Given the description of an element on the screen output the (x, y) to click on. 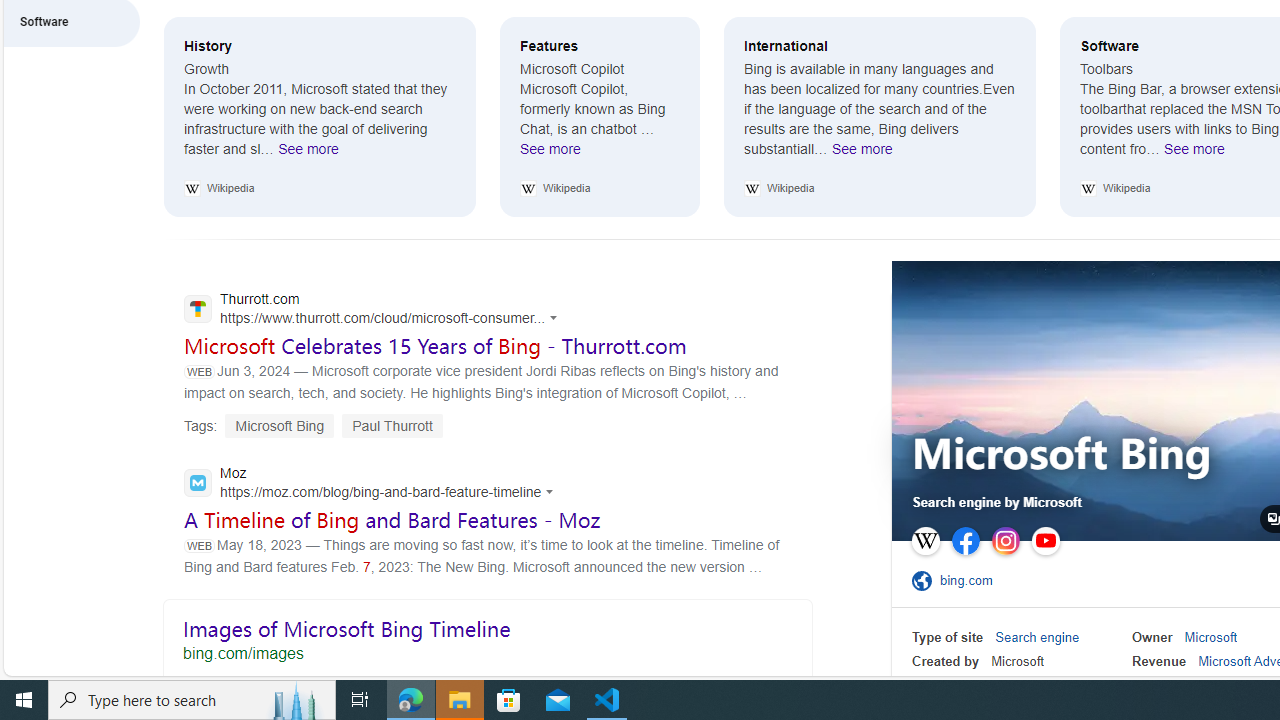
Microsoft Celebrates 15 Years of Bing - Thurrott.com (435, 345)
Class: sp-ofsite (921, 580)
Wikipedia (925, 541)
Created by (945, 660)
Tags: Microsoft Bing Paul Thurrott (313, 425)
Microsoft (1210, 637)
Global web icon (197, 483)
See more History (308, 153)
A Timeline of Bing and Bard Features - Moz (392, 519)
YouTube (1045, 541)
bing.com (971, 580)
Thurrott.com (376, 310)
Search engine (1037, 637)
Revenue (1158, 660)
